Given the description of an element on the screen output the (x, y) to click on. 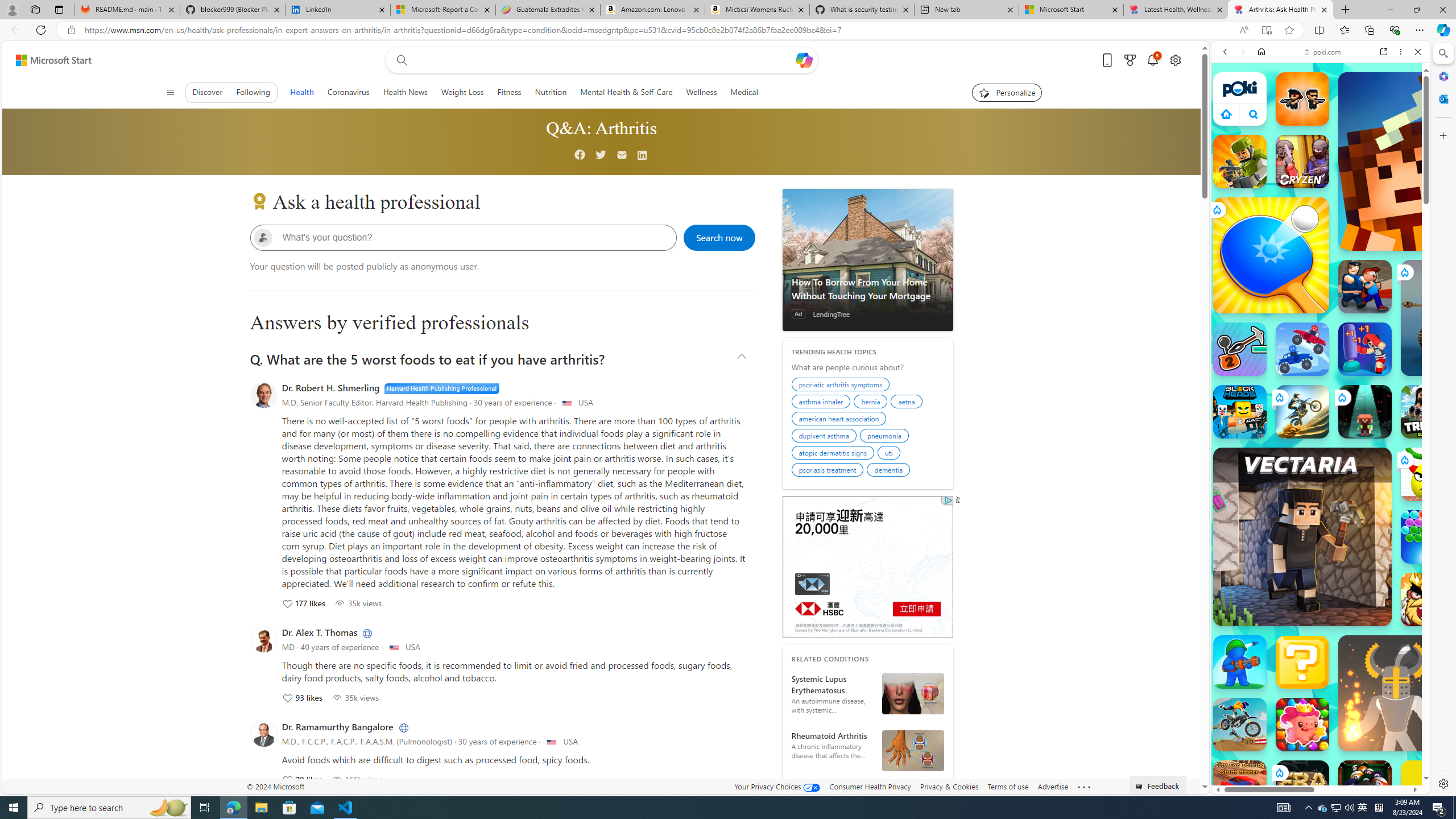
Crazy Cars (1419, 574)
Ping Pong Go! Ping Pong Go! (1270, 255)
See more related conditions (867, 789)
Sports Games (1320, 378)
Mental Health & Self-Care (626, 92)
Show More Io Games (1390, 351)
uti (890, 453)
pneumonia (885, 437)
